Given the description of an element on the screen output the (x, y) to click on. 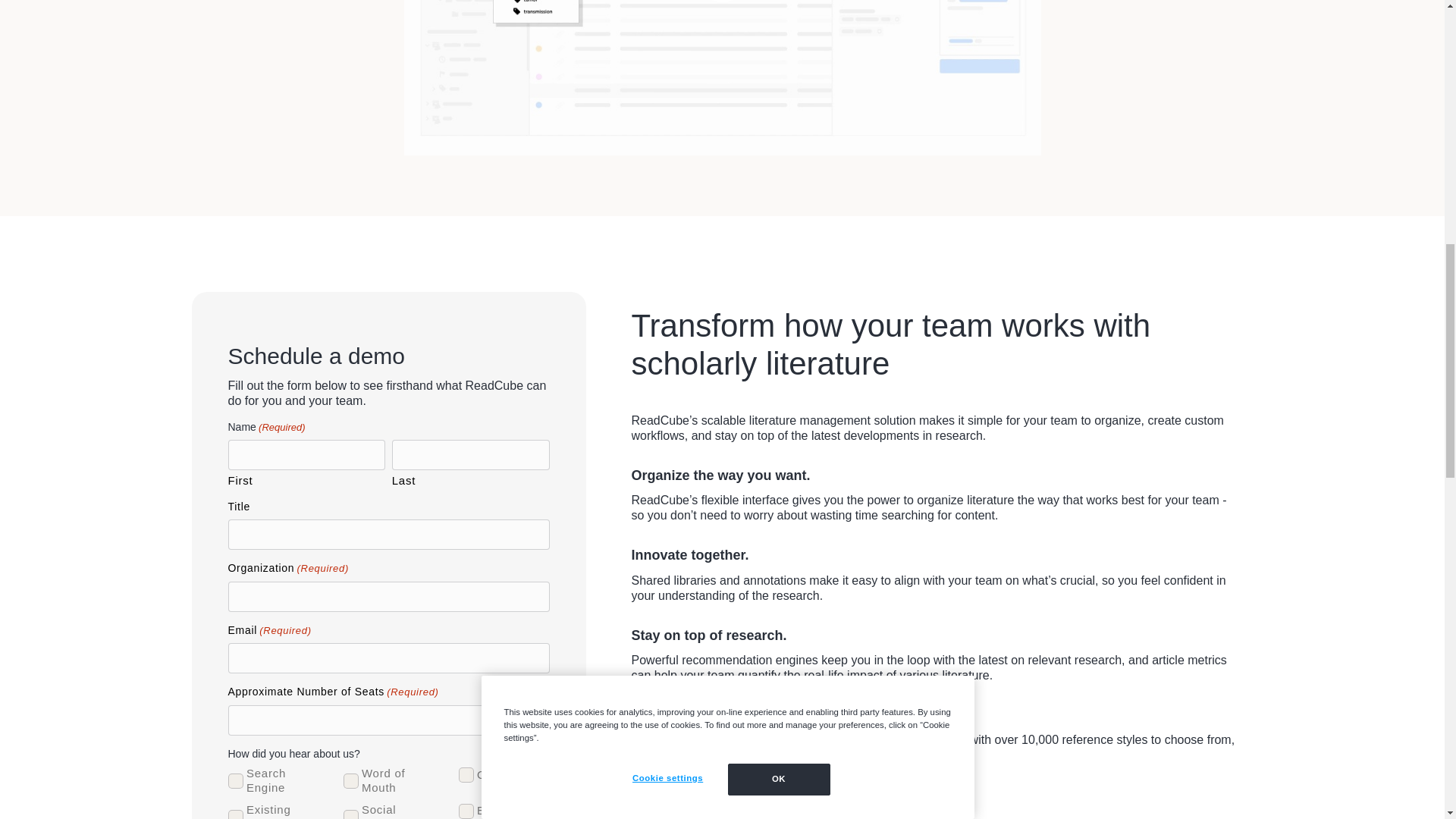
Word of Mouth (350, 780)
Search Engine (235, 780)
Event (465, 811)
Online Ad (465, 774)
Existing User (235, 814)
Social Media (350, 814)
